Given the description of an element on the screen output the (x, y) to click on. 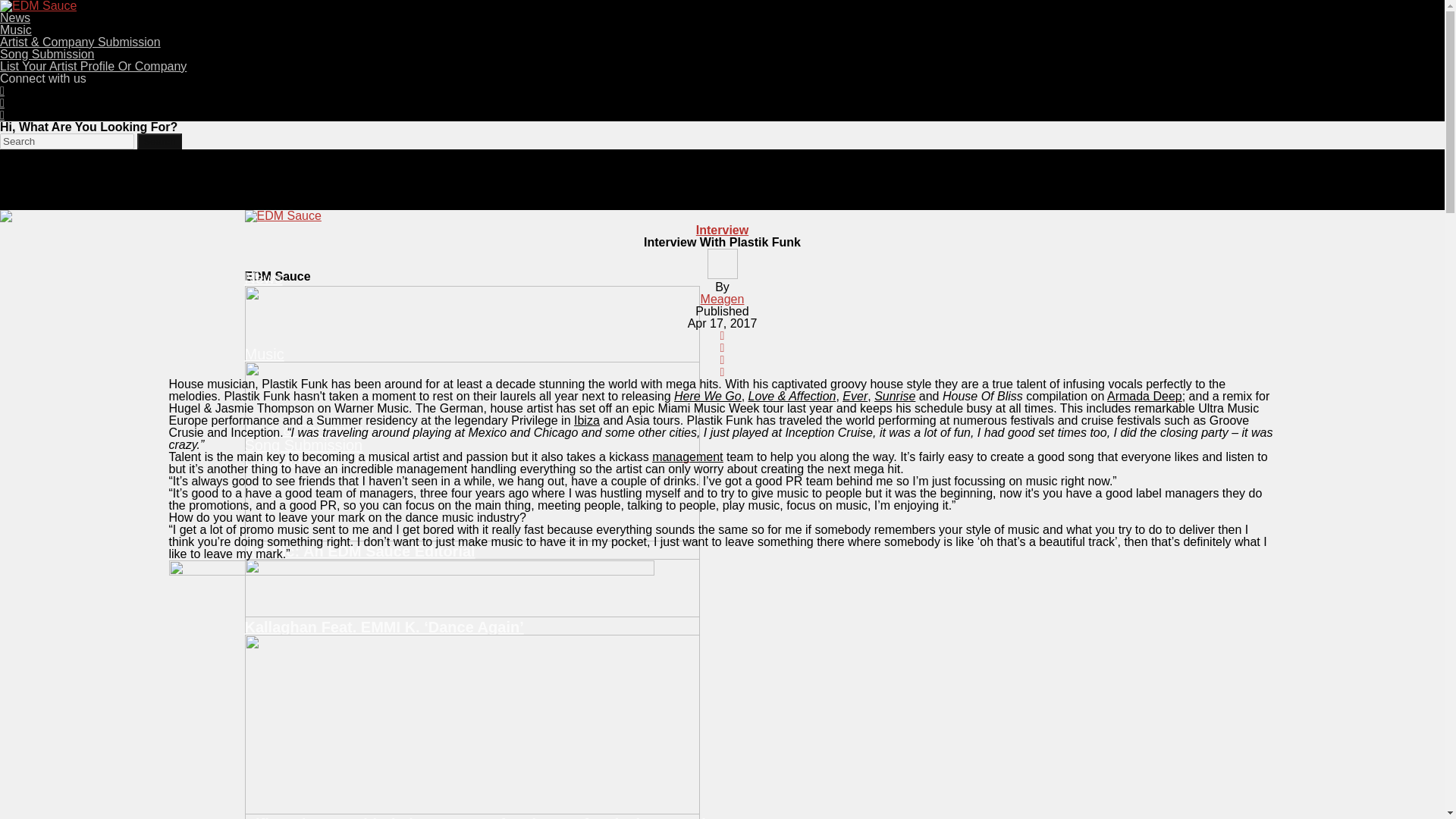
Search (158, 141)
Search (158, 141)
Music (16, 29)
News (15, 17)
List Your Artist Profile Or Company (360, 460)
List Your Artist Profile Or Company (93, 65)
Song Submission (47, 53)
Search (66, 141)
Song Submission (303, 444)
